Given the description of an element on the screen output the (x, y) to click on. 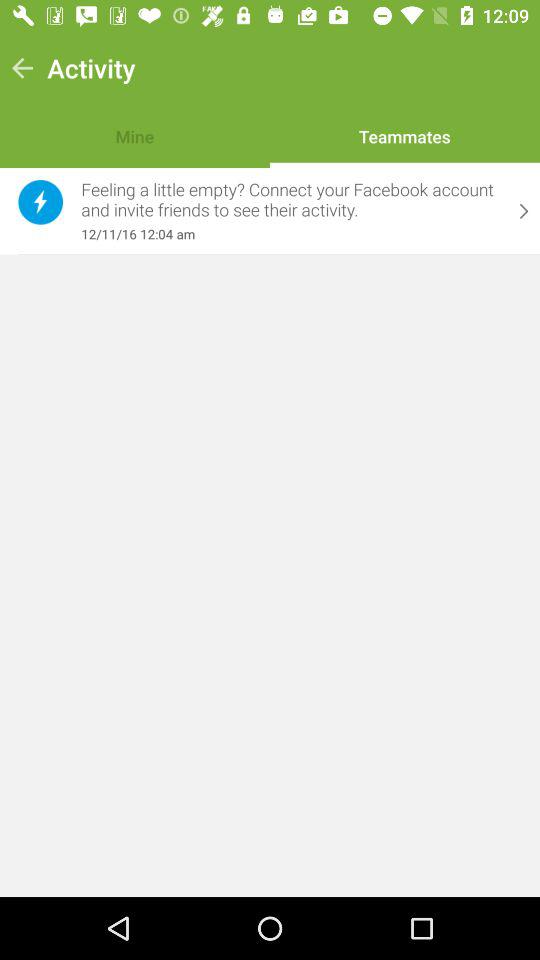
press the item to the left of activity icon (22, 67)
